Given the description of an element on the screen output the (x, y) to click on. 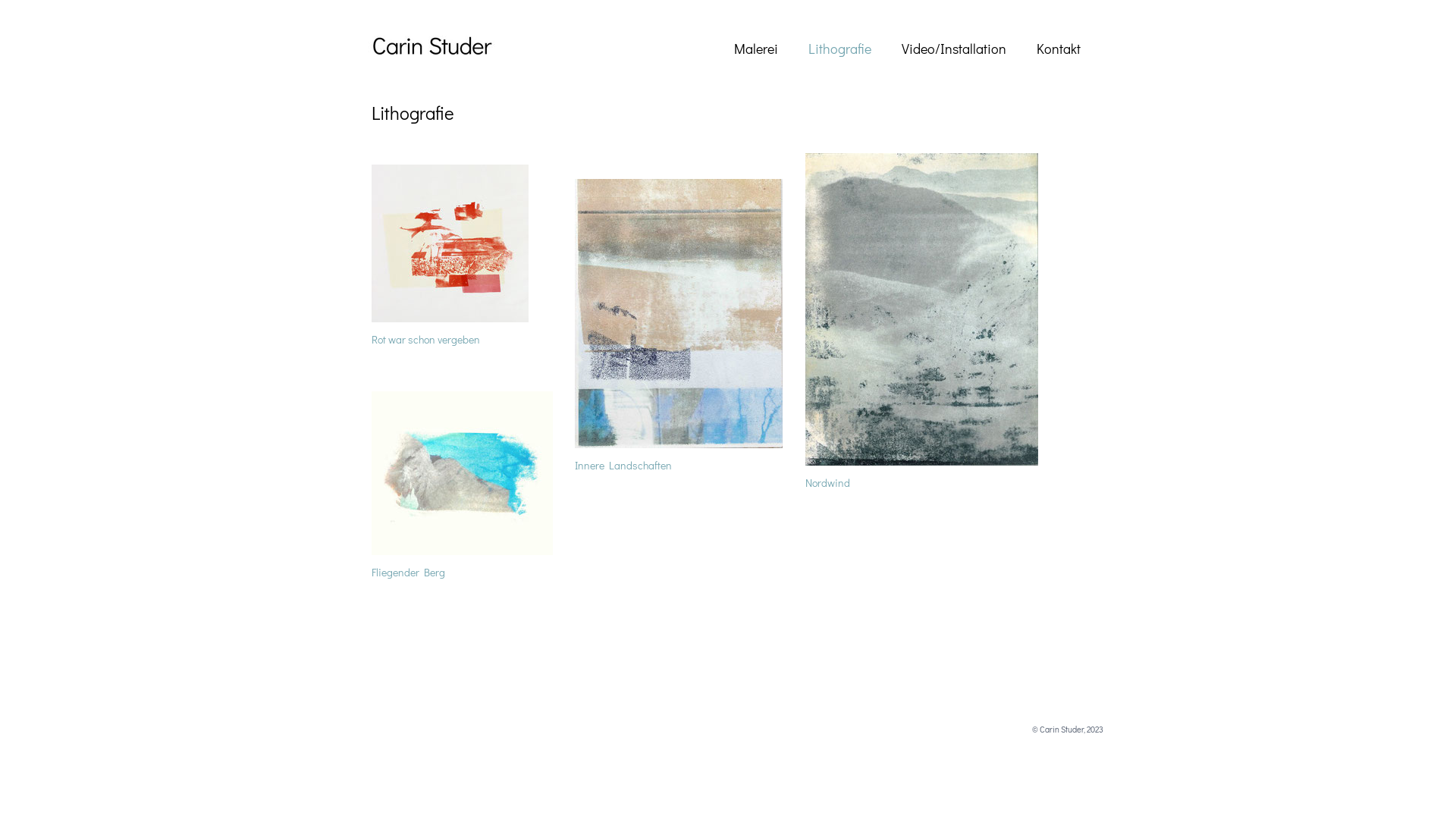
Innere Landschaften Element type: text (622, 464)
Fliegender Berg Element type: text (408, 571)
Lithografie Element type: text (839, 48)
Video/Installation Element type: text (953, 48)
Nordwind Element type: text (827, 481)
Rot war schon vergeben Element type: text (425, 338)
Malerei Element type: text (755, 48)
Kontakt Element type: text (1058, 48)
